Given the description of an element on the screen output the (x, y) to click on. 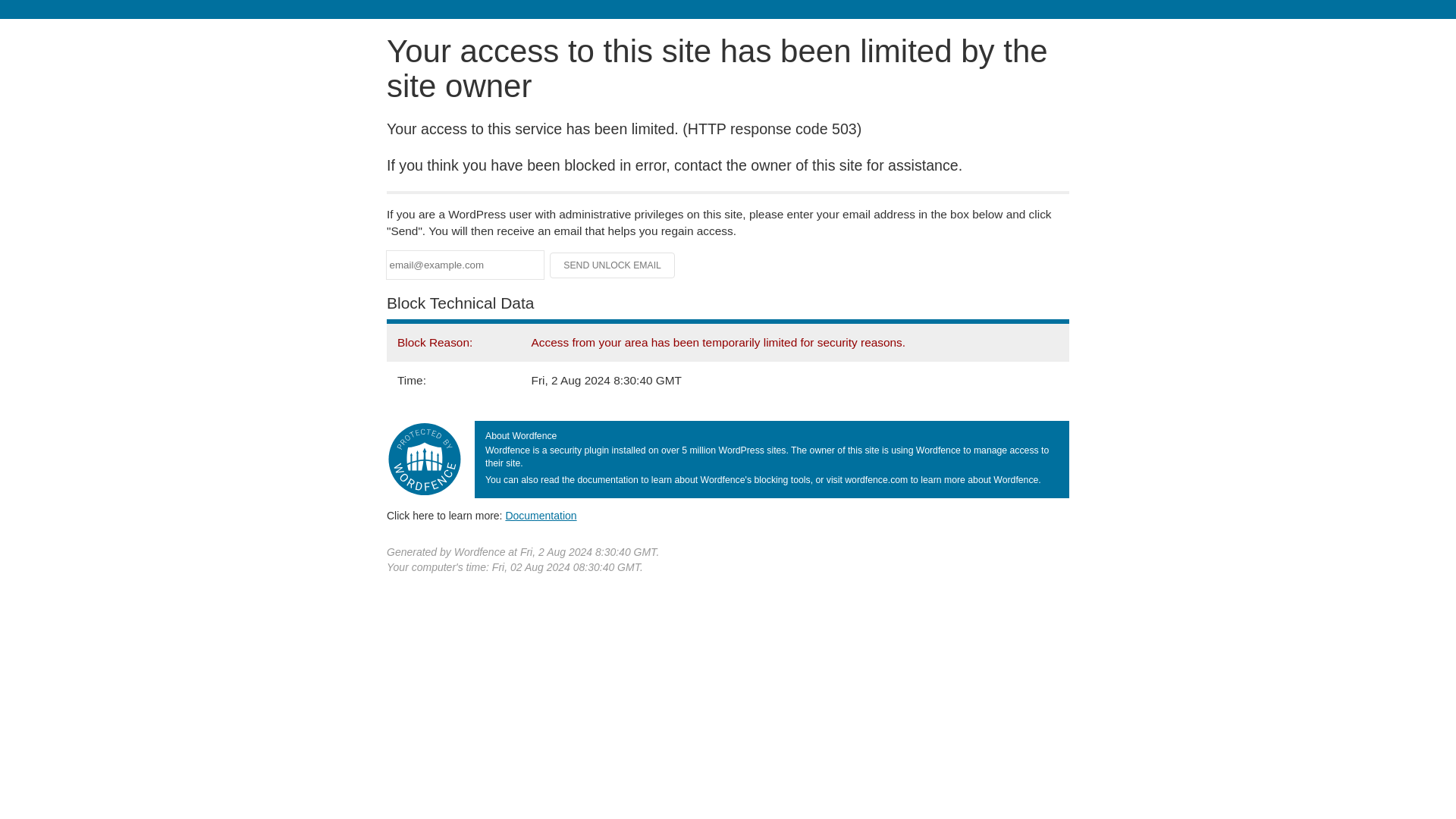
Documentation (540, 515)
Send Unlock Email (612, 265)
Send Unlock Email (612, 265)
